Given the description of an element on the screen output the (x, y) to click on. 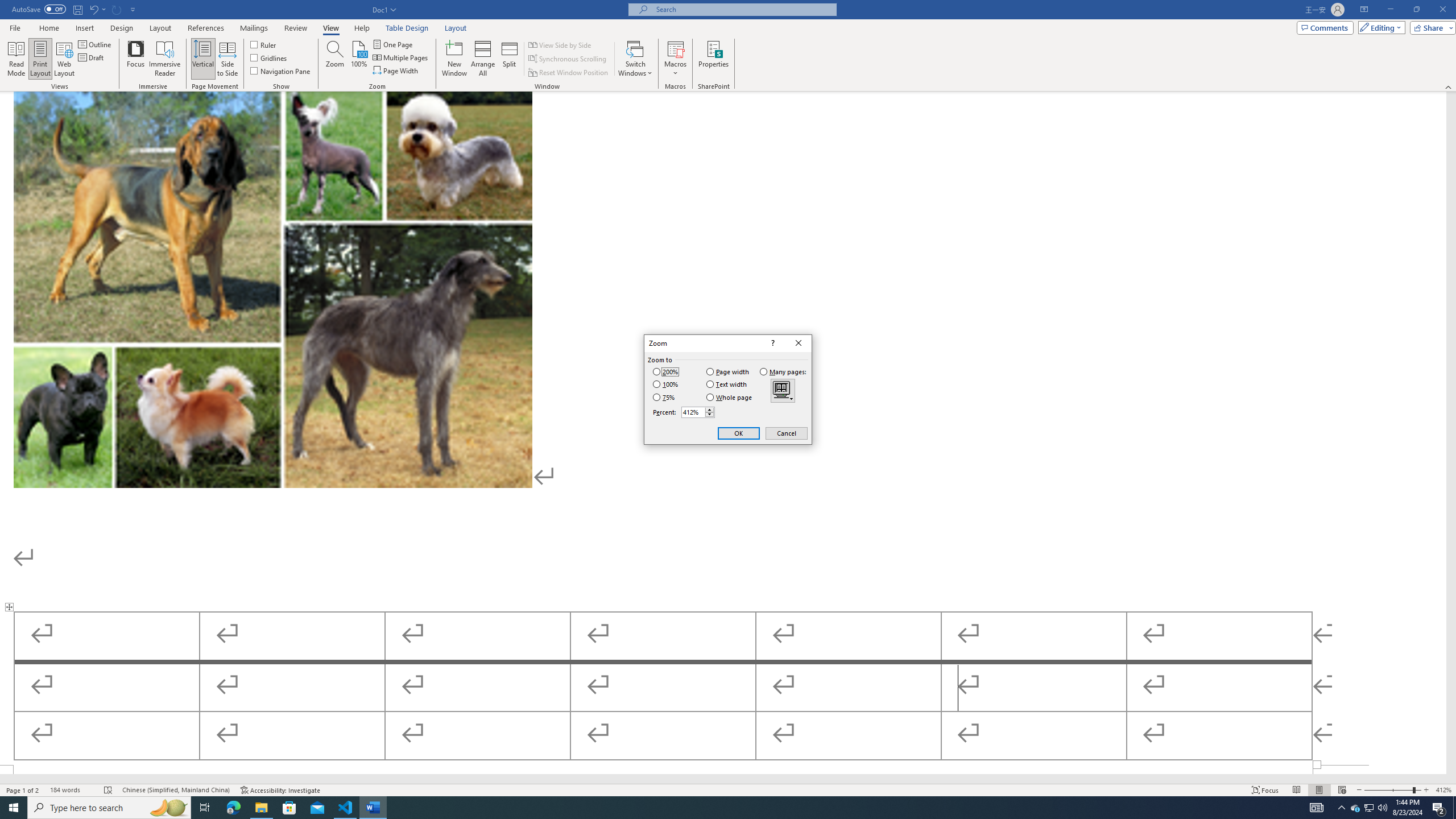
Macros (675, 58)
Page Number Page 1 of 2 (22, 790)
75% (663, 396)
Arrange All (483, 58)
Can't Repeat (117, 9)
Microsoft Edge (233, 807)
